Given the description of an element on the screen output the (x, y) to click on. 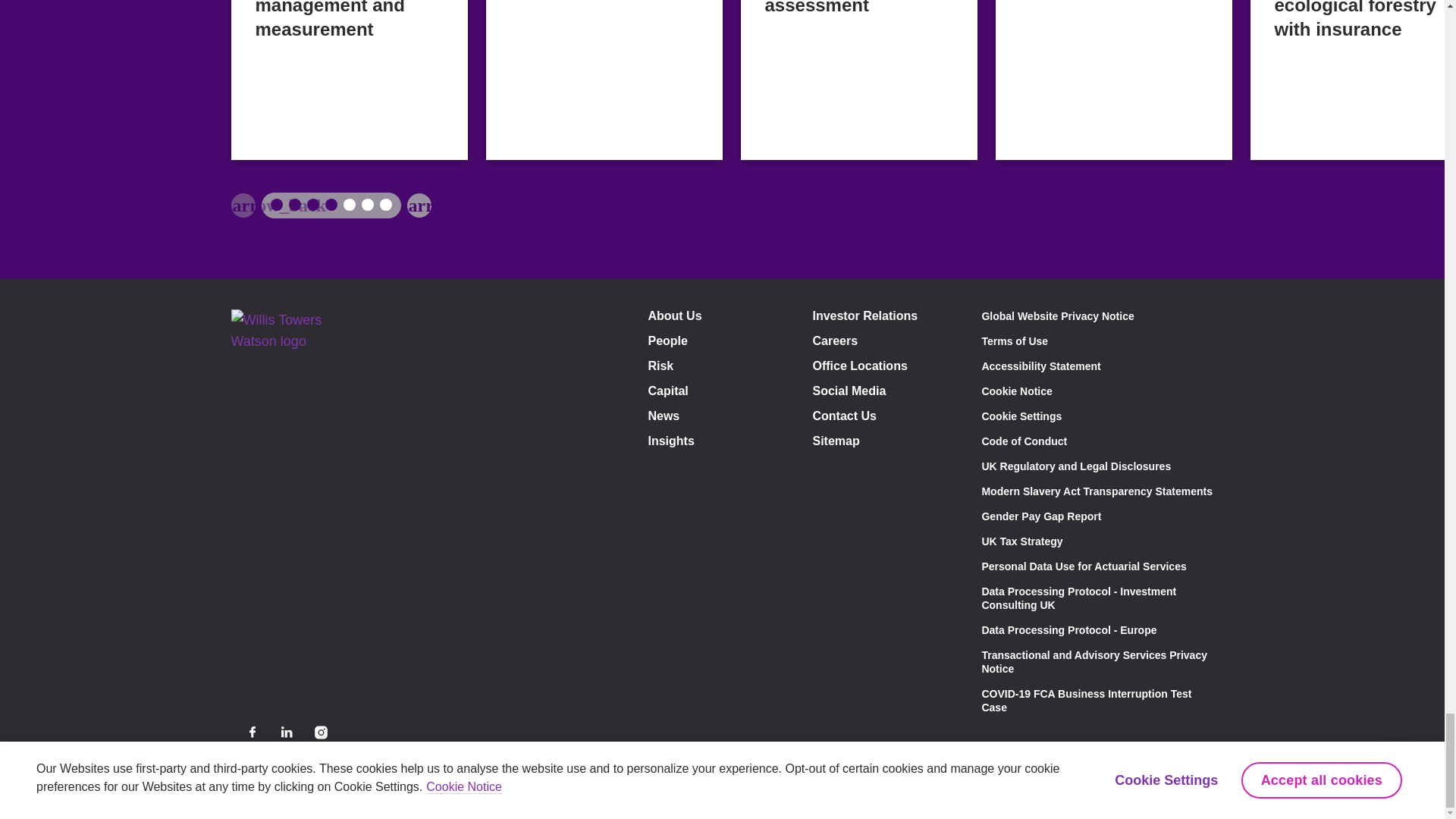
Facebook (252, 732)
Transactional and Advisory Services Privacy Notice (1094, 661)
Linkedin (287, 732)
UK Regulatory and Legal Disclosures (1075, 466)
